Given the description of an element on the screen output the (x, y) to click on. 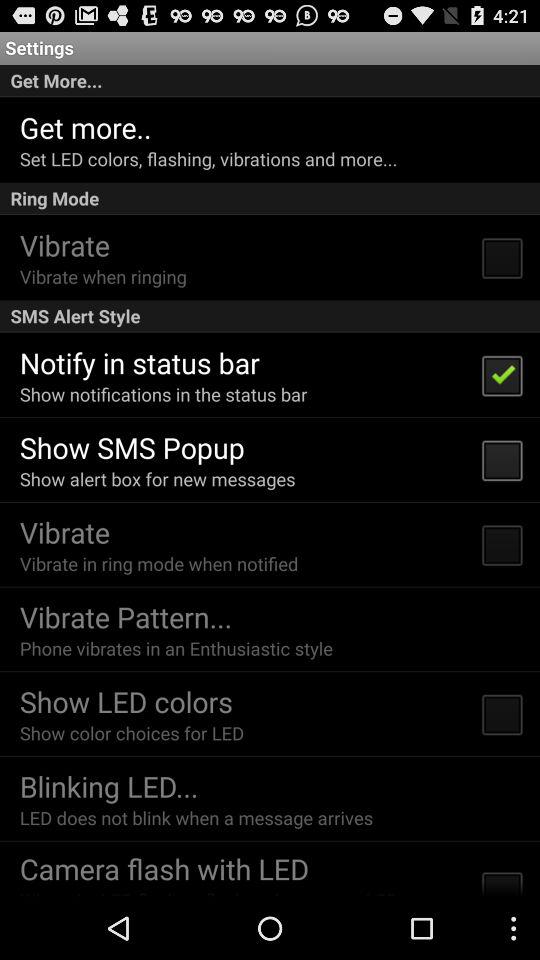
turn off the vibrate pattern... (125, 616)
